Given the description of an element on the screen output the (x, y) to click on. 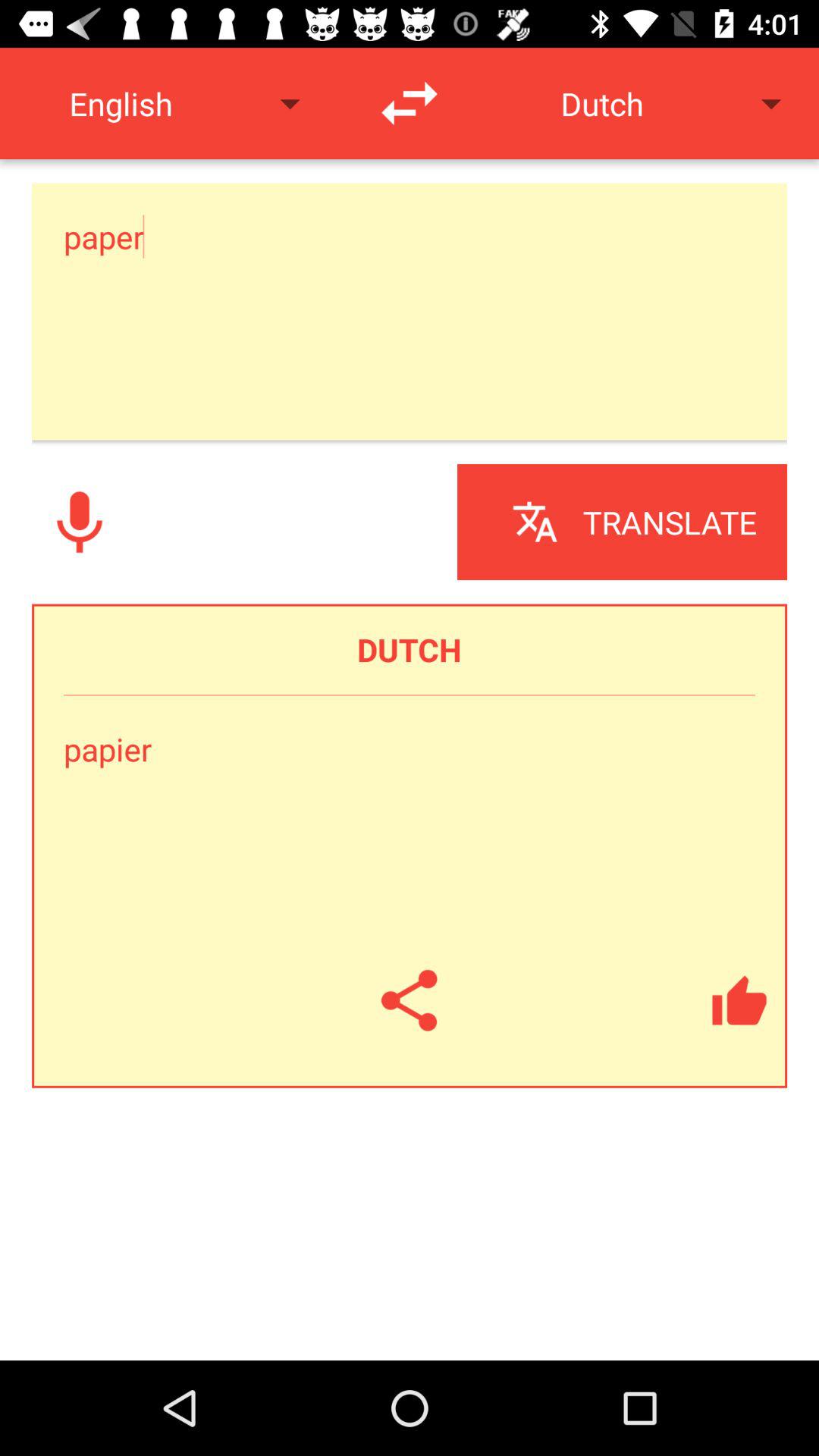
like the app (739, 1000)
